Given the description of an element on the screen output the (x, y) to click on. 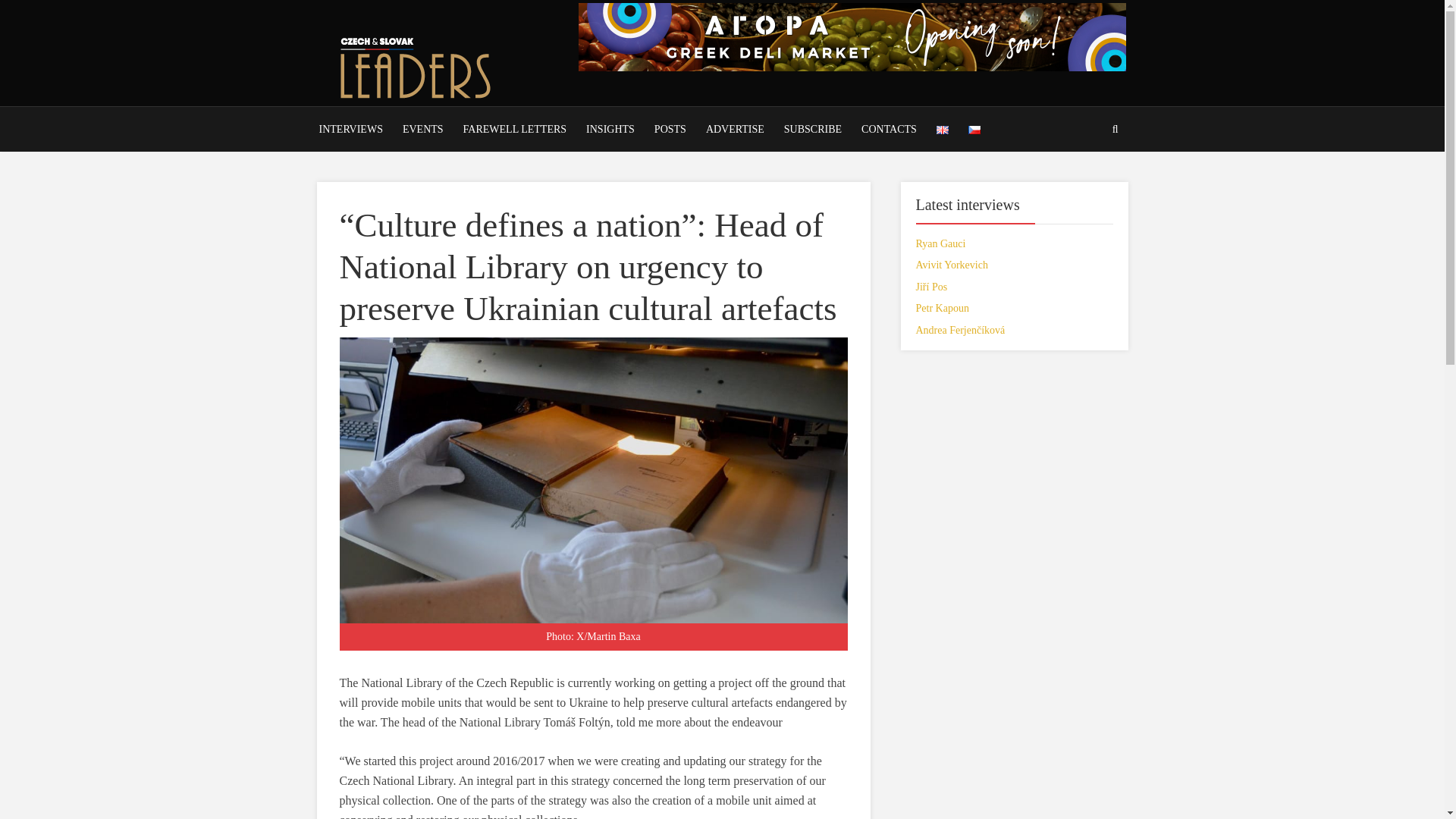
Ryan Gauci (940, 243)
INSIGHTS (610, 129)
INTERVIEWS (351, 129)
ADVERTISE (735, 129)
Petr Kapoun (942, 307)
SUBSCRIBE (812, 129)
CONTACTS (888, 129)
FAREWELL LETTERS (515, 129)
Avivit Yorkevich (951, 265)
EVENTS (422, 129)
